Given the description of an element on the screen output the (x, y) to click on. 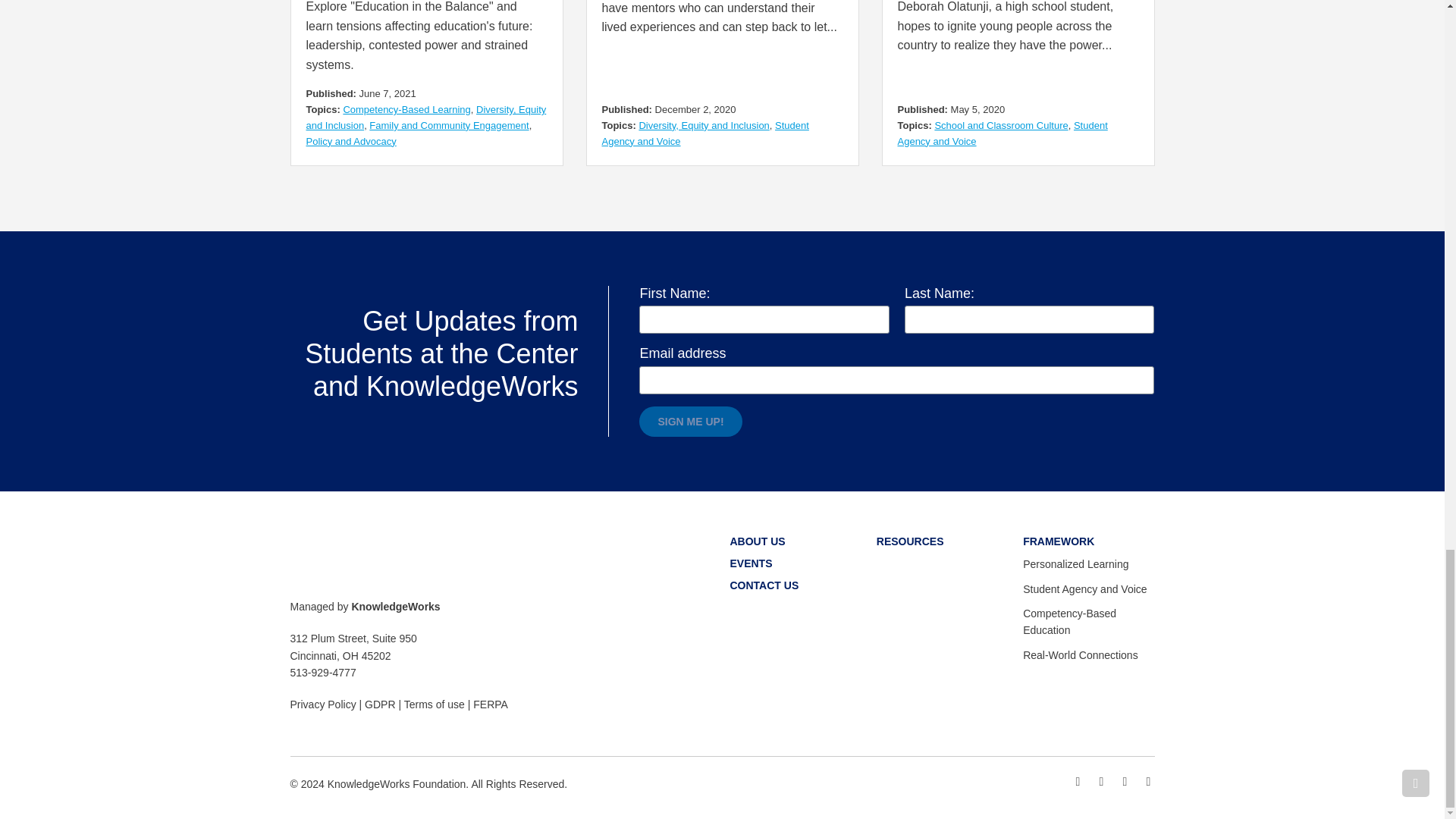
Why? So we can send you important insights and resources. (896, 379)
